Given the description of an element on the screen output the (x, y) to click on. 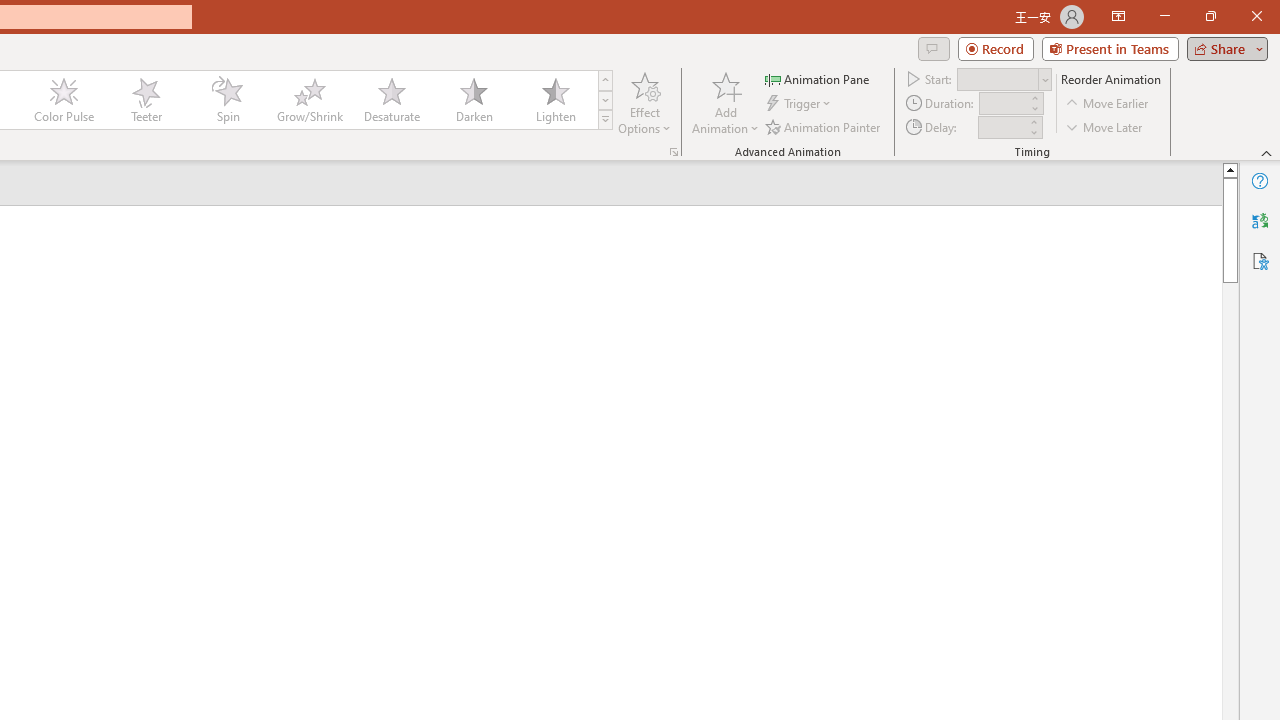
Less (1033, 132)
Add Animation (725, 102)
Restore Down (1210, 16)
Darken (473, 100)
Share (1223, 48)
Start (1004, 78)
Comments (933, 48)
Grow/Shrink (309, 100)
Teeter (145, 100)
More Options... (673, 151)
Animation Duration (1003, 103)
Translator (1260, 220)
Trigger (799, 103)
Accessibility (1260, 260)
Animation Delay (1002, 127)
